Given the description of an element on the screen output the (x, y) to click on. 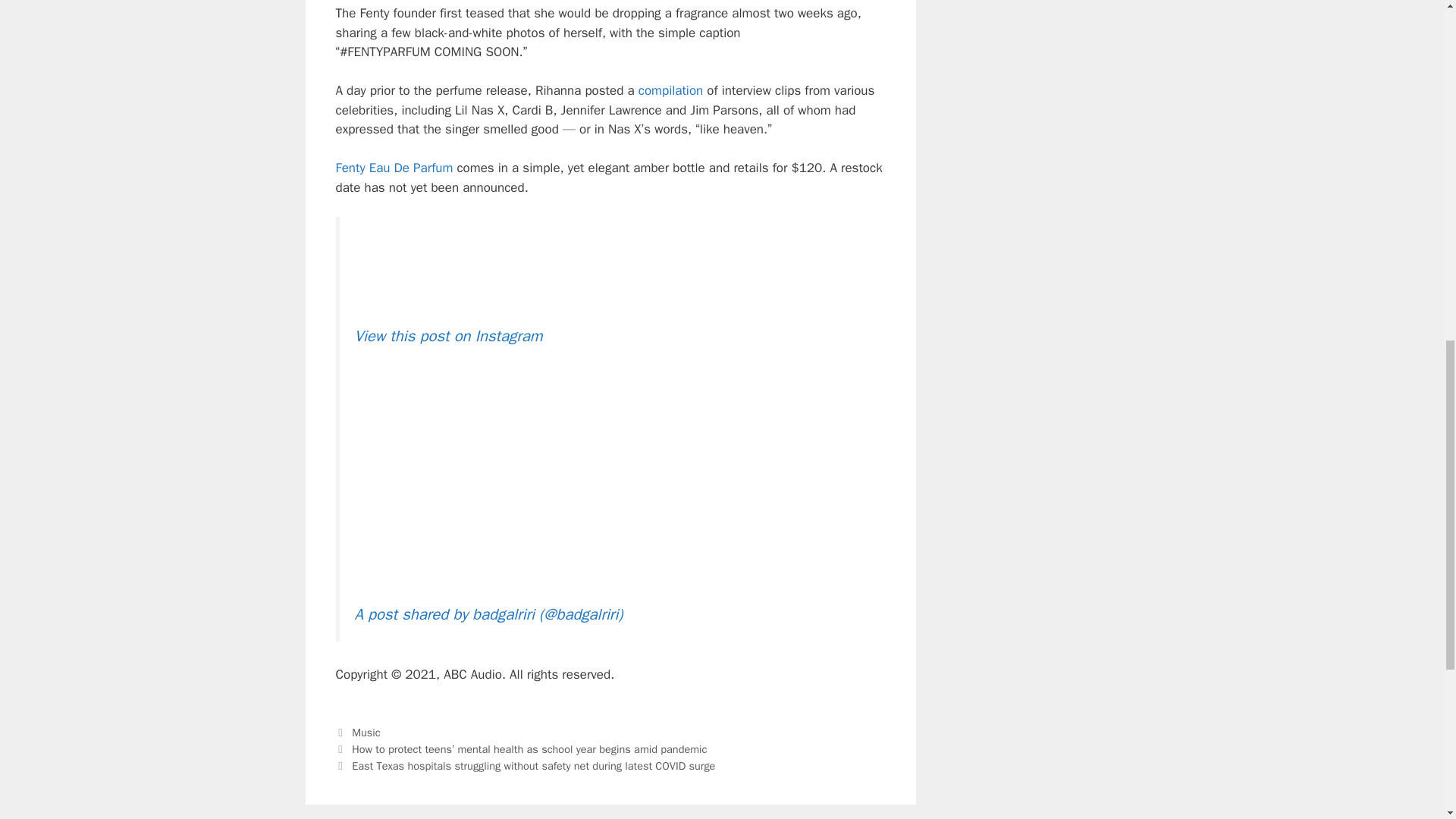
Fenty Eau De Parfum (393, 167)
compilation (671, 90)
View this post on Instagram (449, 335)
Music (366, 732)
